Given the description of an element on the screen output the (x, y) to click on. 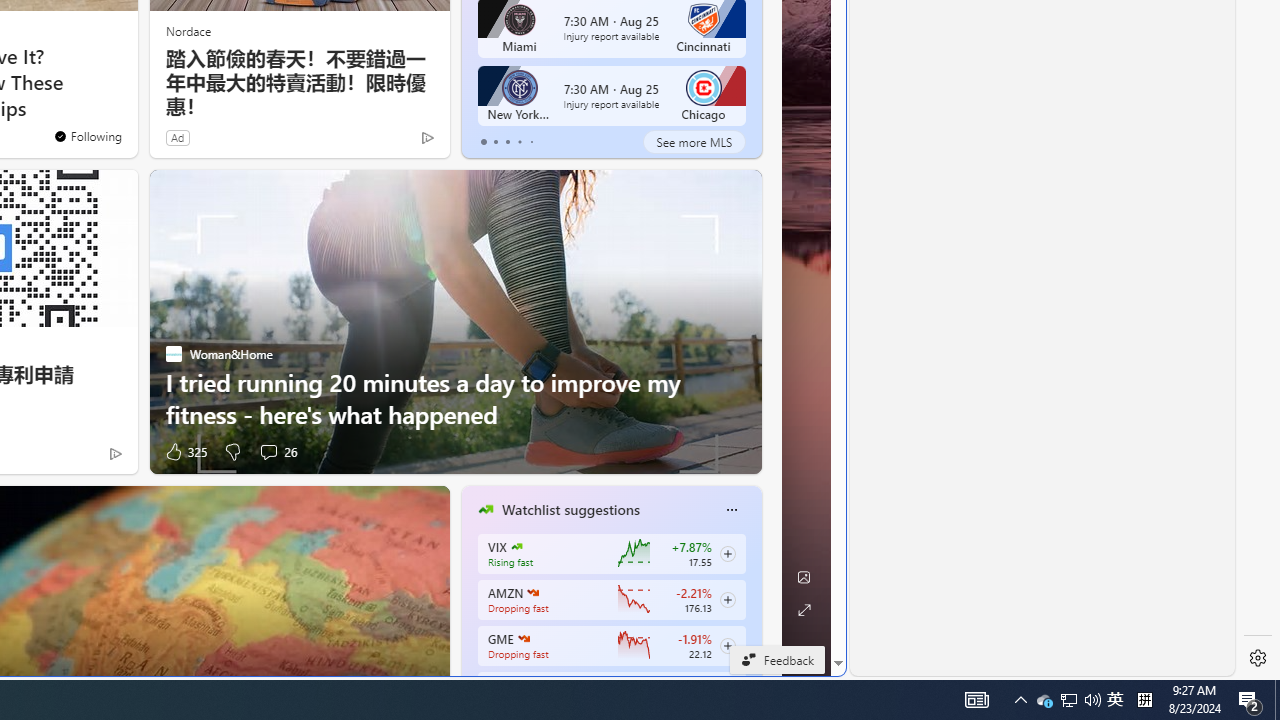
You're following The Weather Channel (87, 135)
tab-3 (519, 142)
Watchlist suggestions (570, 510)
Edit Background (803, 577)
AMAZON.COM, INC. (532, 592)
tab-2 (507, 142)
325 Like (184, 451)
Class: follow-button  m (727, 645)
View comments 26 Comment (268, 452)
